Given the description of an element on the screen output the (x, y) to click on. 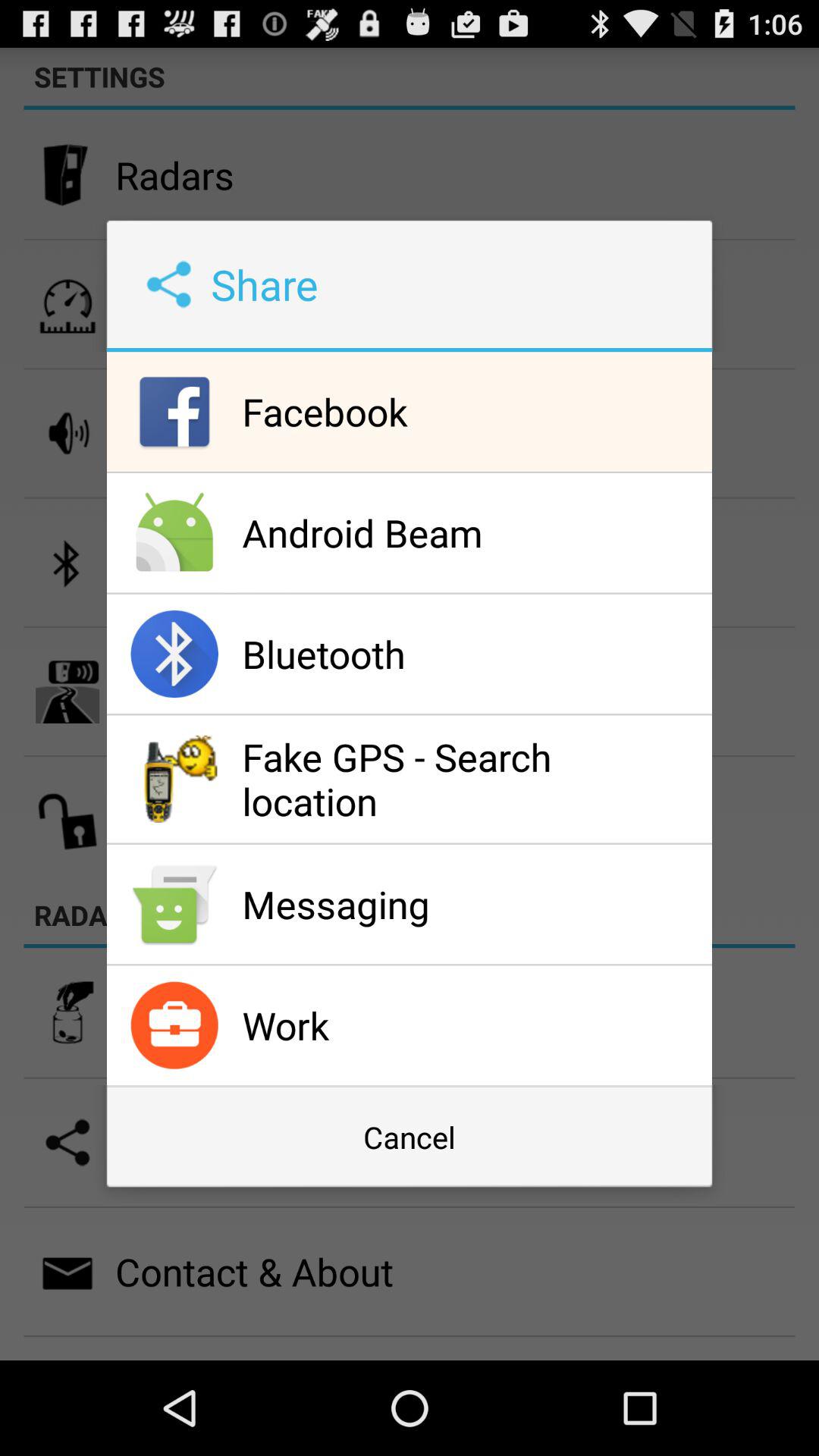
swipe to the android beam item (473, 532)
